Given the description of an element on the screen output the (x, y) to click on. 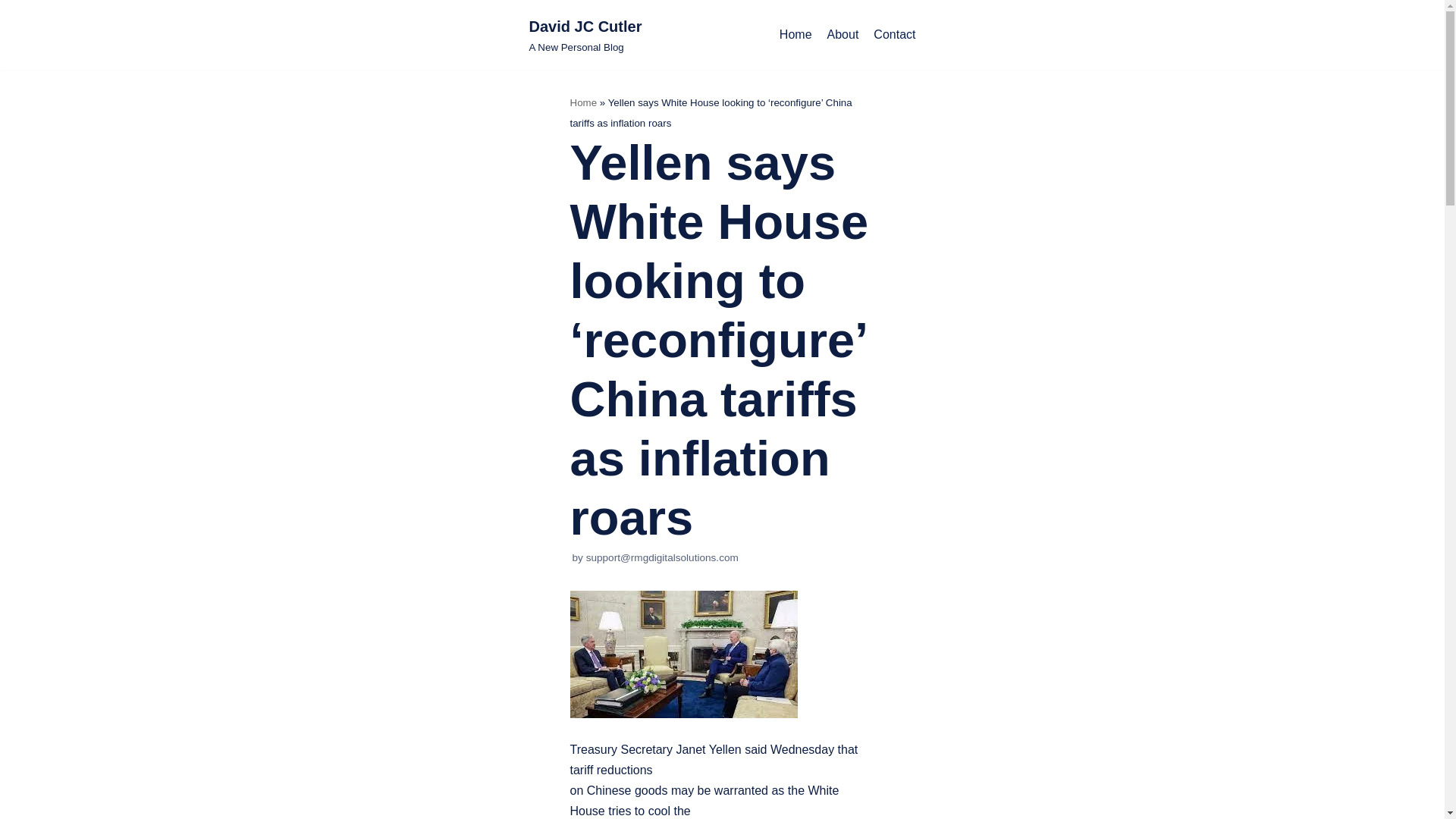
Home (585, 34)
Contact (795, 35)
Skip to content (894, 35)
David JC Cutler (15, 31)
Home (585, 34)
About (583, 102)
